Given the description of an element on the screen output the (x, y) to click on. 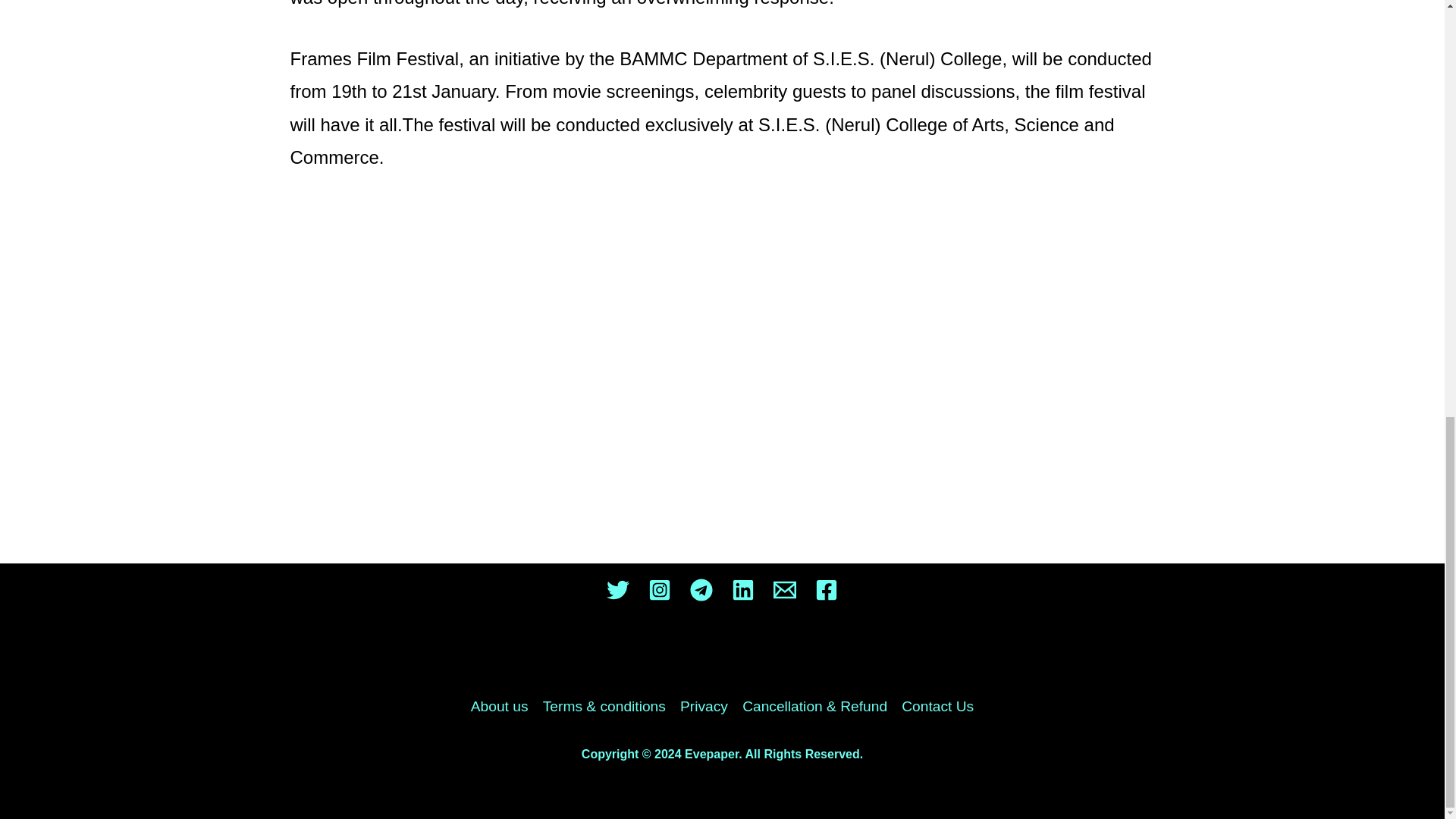
Privacy (703, 706)
About us (502, 706)
Contact Us (934, 706)
